Given the description of an element on the screen output the (x, y) to click on. 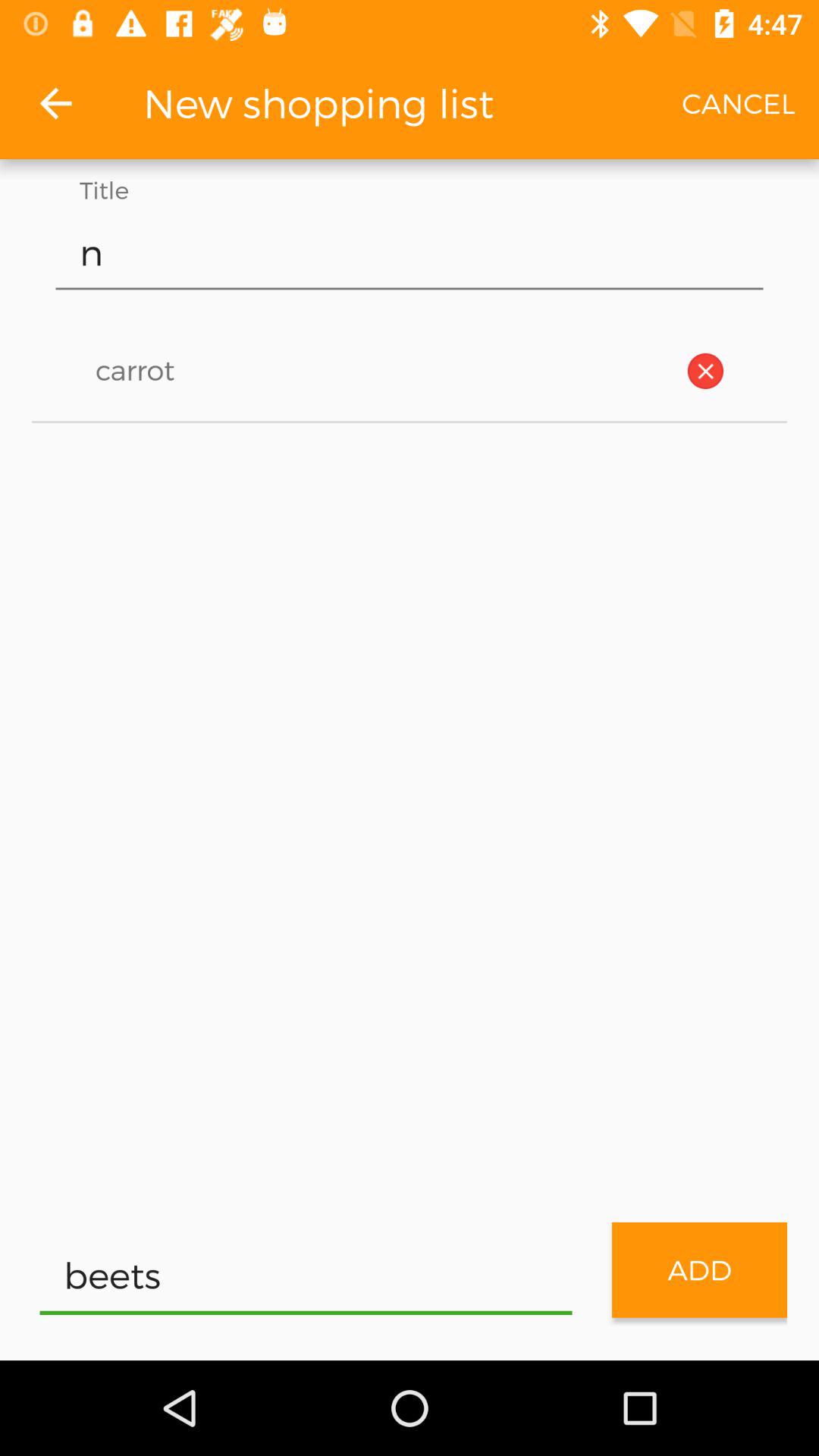
clear text option (705, 370)
